Given the description of an element on the screen output the (x, y) to click on. 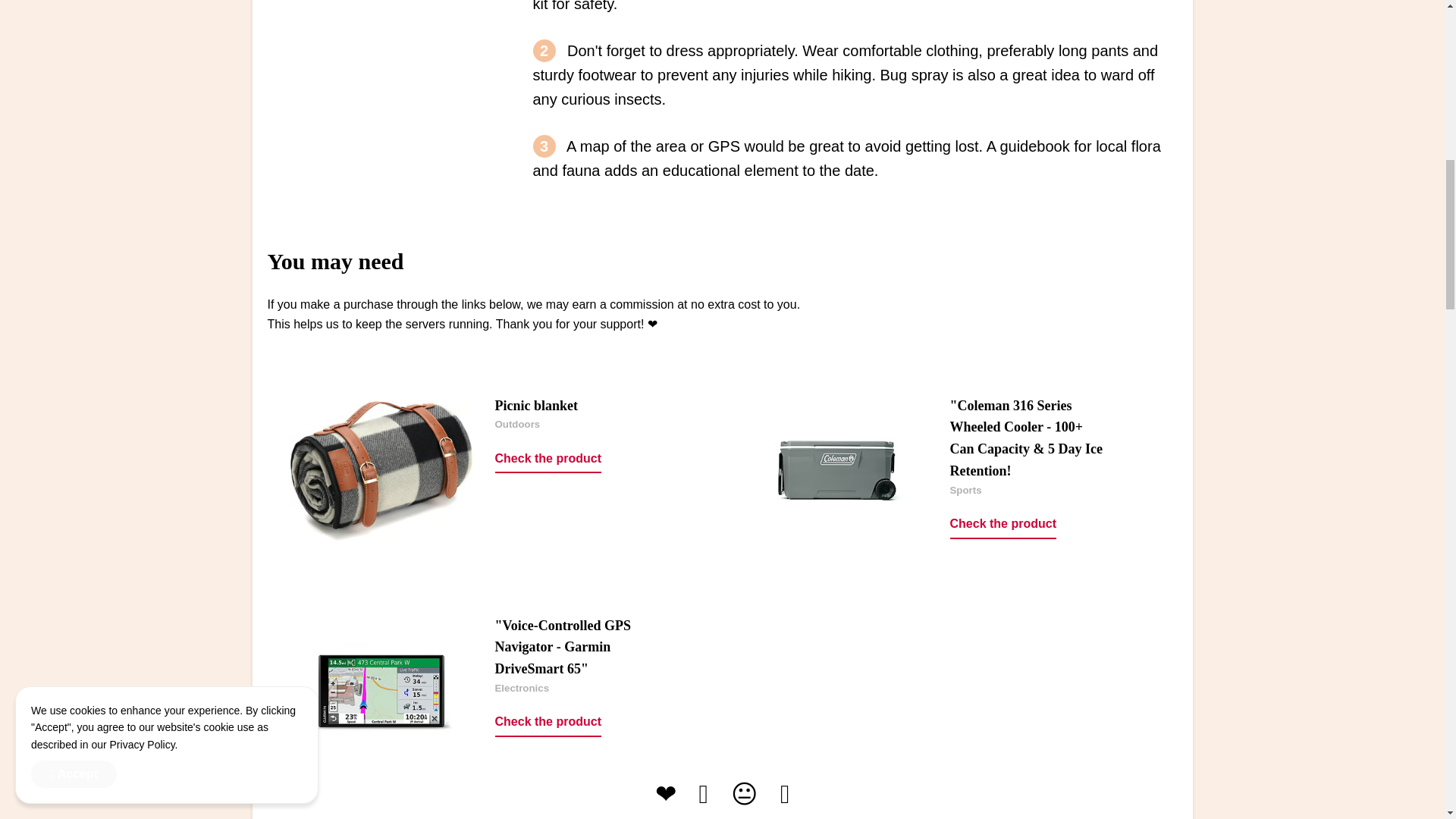
Picnic blanket (536, 405)
Check the product (547, 459)
"Voice-Controlled GPS Navigator - Garmin DriveSmart 65" (562, 647)
Check the product (547, 722)
Check the product (1002, 524)
